Given the description of an element on the screen output the (x, y) to click on. 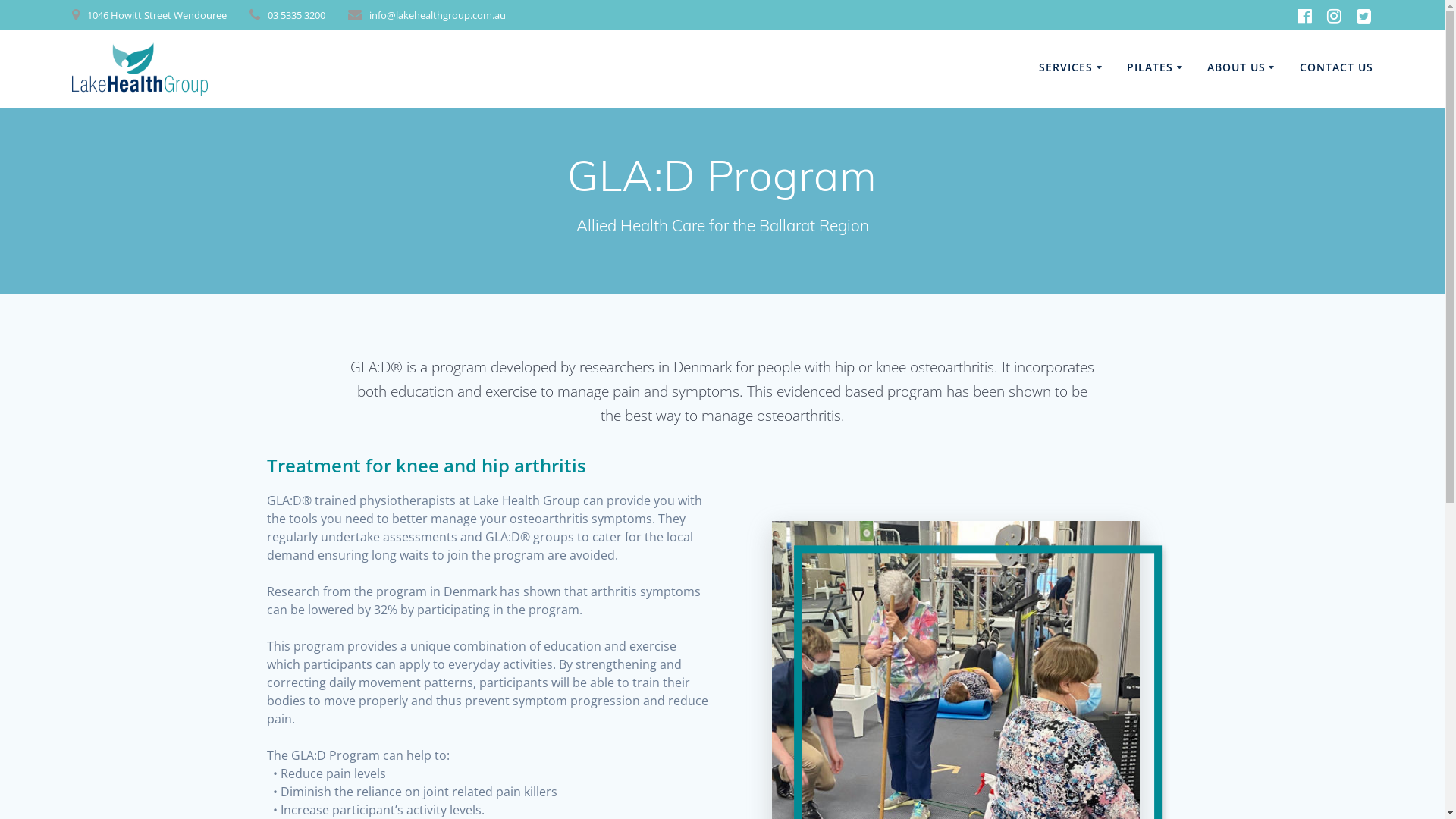
SERVICES Element type: text (1072, 68)
CONTACT US Element type: text (1336, 68)
PILATES Element type: text (1156, 68)
info@lakehealthgroup.com.au Element type: text (437, 14)
ABOUT US Element type: text (1243, 68)
